Given the description of an element on the screen output the (x, y) to click on. 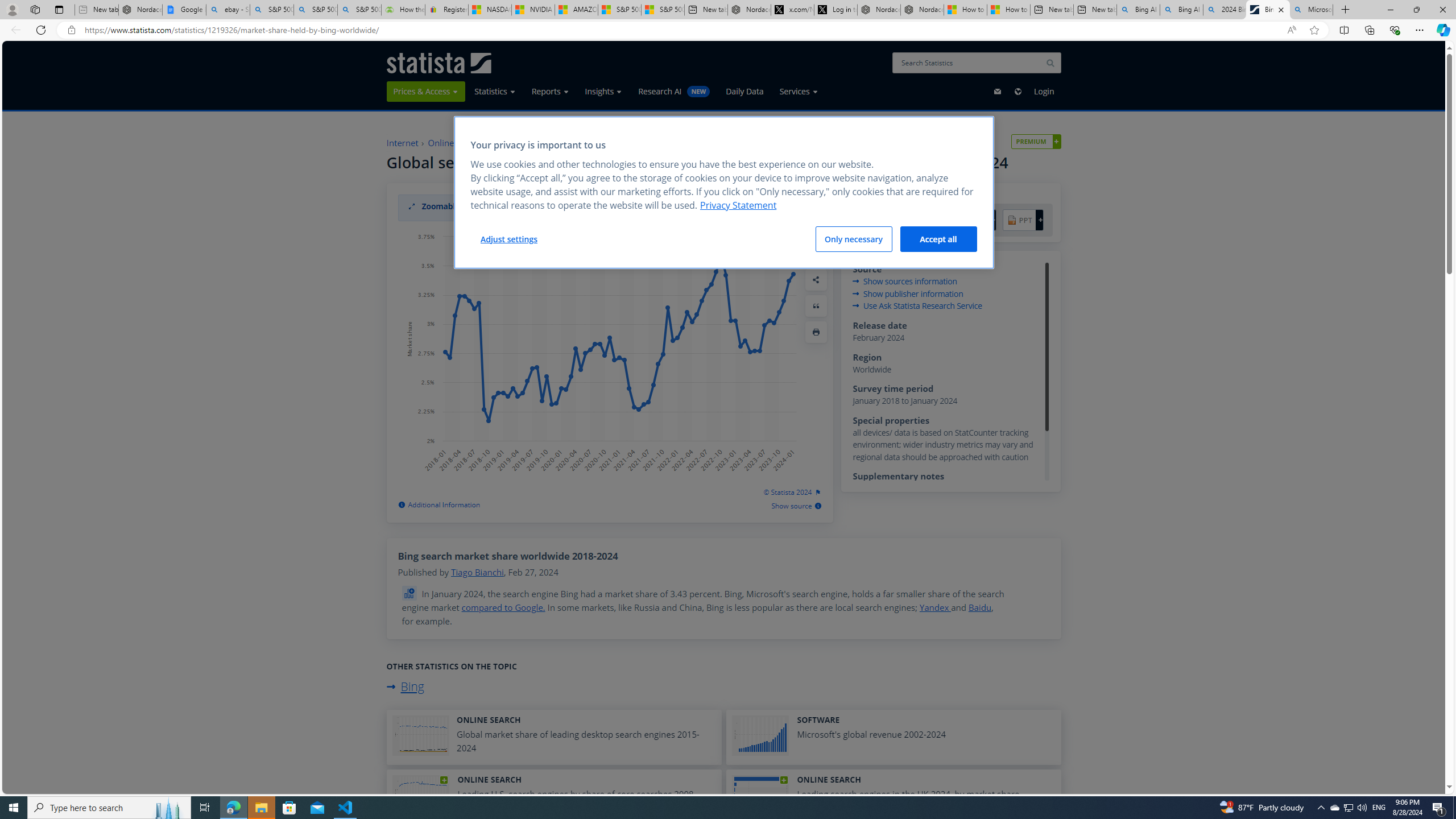
Internet (406, 142)
Account overview (1036, 141)
Select language (1017, 91)
Research AI (673, 91)
Microsoft Bing Timeline - Search (1311, 9)
Citation (816, 305)
Accept all (937, 239)
compared to Google. (503, 607)
Register: Create a personal eBay account (446, 9)
Link to Statistic (410, 593)
Insights (603, 91)
